Given the description of an element on the screen output the (x, y) to click on. 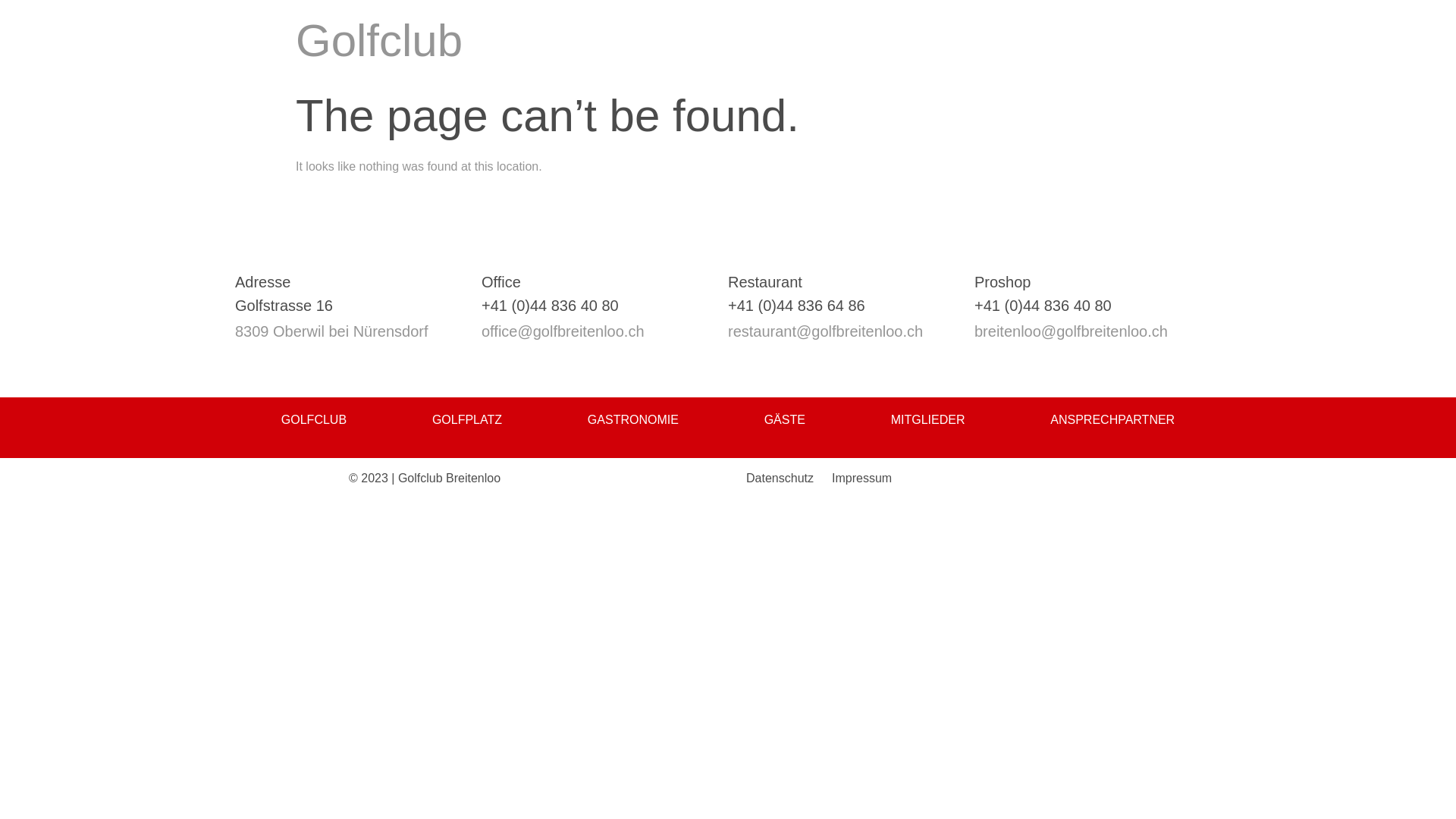
restaurant@golfbreitenloo.ch Element type: text (825, 331)
Impressum Element type: text (861, 477)
breitenloo@golfbreitenloo.ch Element type: text (1070, 331)
+41 (0)44 836 64 86 Element type: text (796, 305)
Golfstrasse 16 Element type: text (283, 305)
Golfclub Element type: text (378, 40)
GOLFCLUB Element type: text (313, 419)
office@golfbreitenloo.ch Element type: text (562, 331)
MITGLIEDER Element type: text (928, 419)
GOLFPLATZ Element type: text (467, 419)
GASTRONOMIE Element type: text (632, 419)
Datenschutz Element type: text (779, 477)
+41 (0)44 836 40 80 Element type: text (1042, 305)
+41 (0)44 836 40 80 Element type: text (549, 305)
ANSPRECHPARTNER Element type: text (1112, 419)
